Given the description of an element on the screen output the (x, y) to click on. 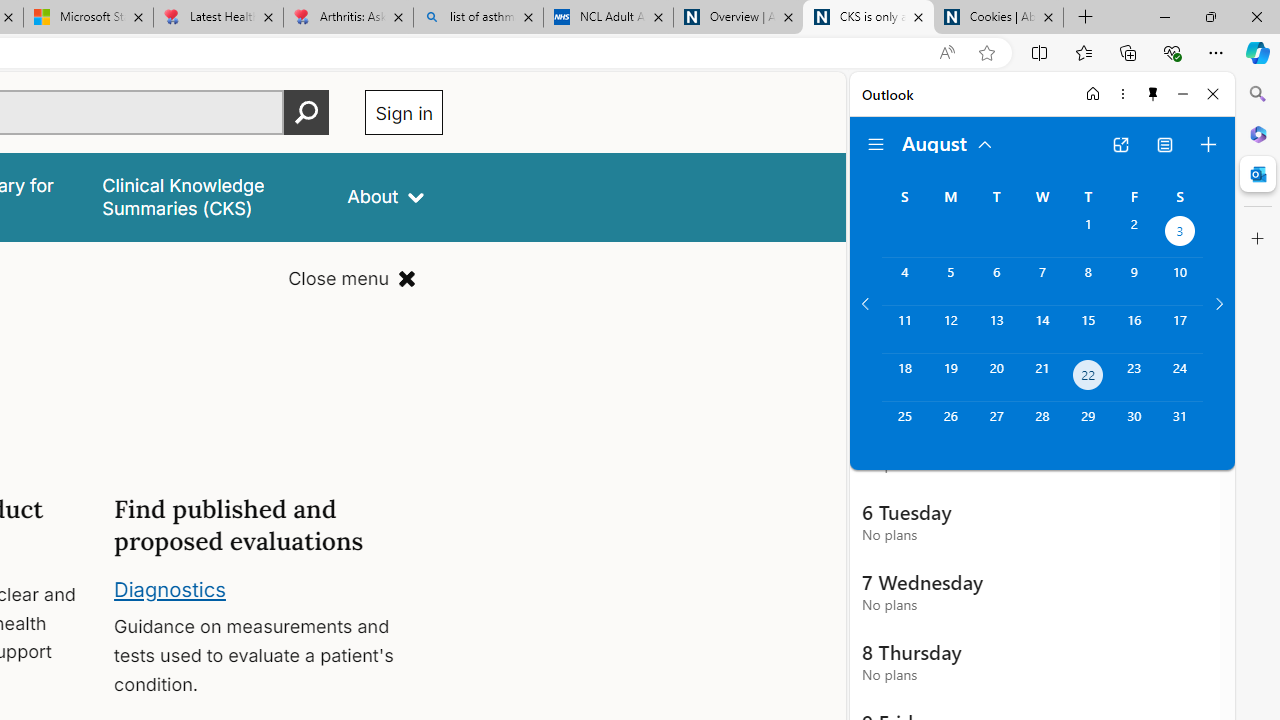
Saturday, August 31, 2024.  (1180, 425)
Close Outlook pane (1258, 174)
Microsoft 365 (1258, 133)
Sunday, August 11, 2024.  (904, 329)
Thursday, August 29, 2024.  (1088, 425)
Close Customize pane (1258, 239)
NCL Adult Asthma Inhaler Choice Guideline (608, 17)
Monday, August 19, 2024.  (950, 377)
Sunday, August 4, 2024.  (904, 281)
Perform search (307, 112)
Wednesday, August 7, 2024.  (1042, 281)
